Given the description of an element on the screen output the (x, y) to click on. 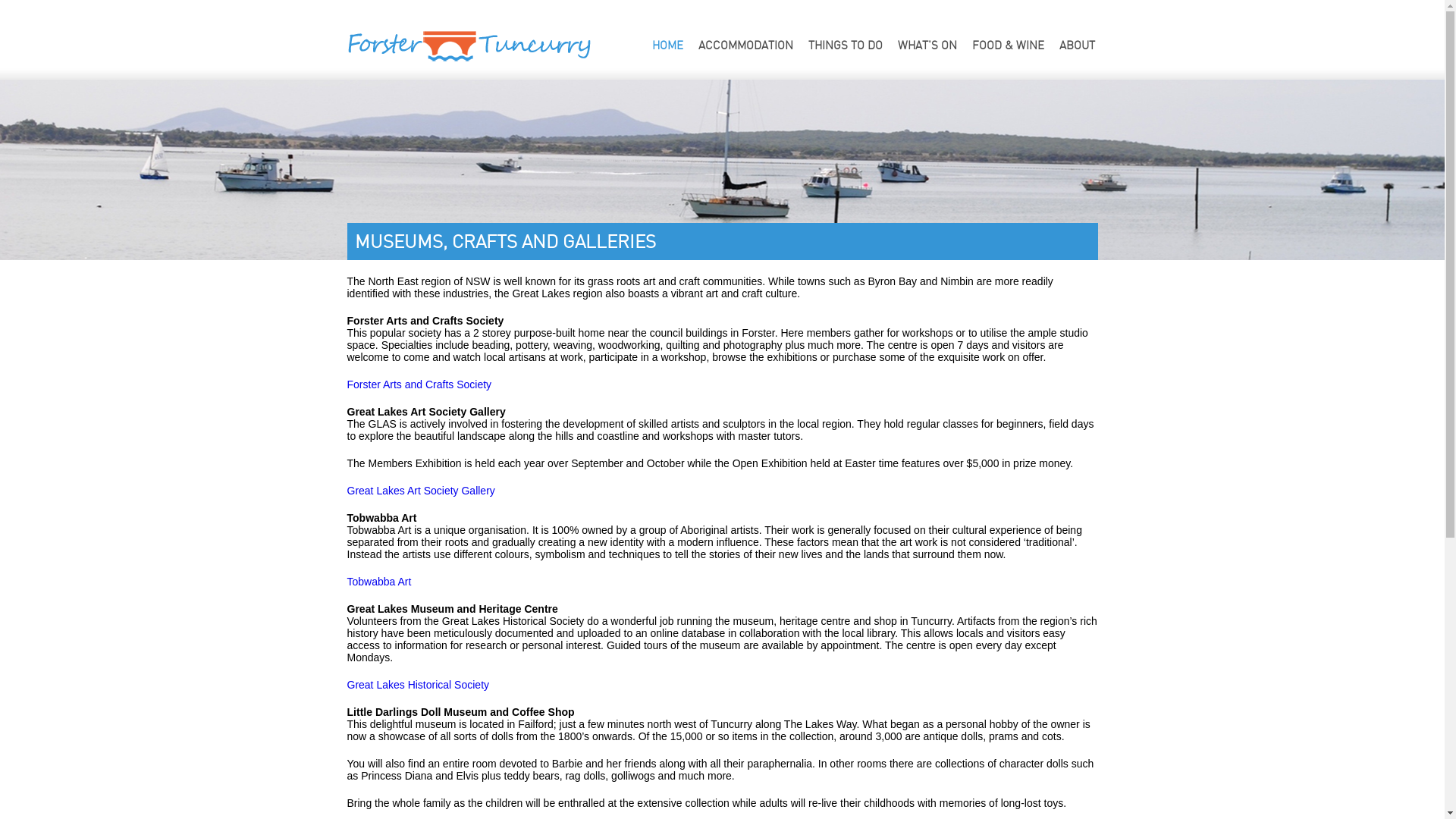
ABOUT Element type: text (1076, 44)
FOOD & WINE Element type: text (1008, 44)
Tobwabba Art Element type: text (379, 581)
WHAT'S ON Element type: text (927, 44)
Great Lakes Art Society Gallery Element type: text (421, 490)
HOME Element type: text (667, 44)
Forster Arts and Crafts Society Element type: text (419, 384)
THINGS TO DO Element type: text (845, 44)
Great Lakes Historical Society Element type: text (418, 684)
ACCOMMODATION Element type: text (744, 44)
